Given the description of an element on the screen output the (x, y) to click on. 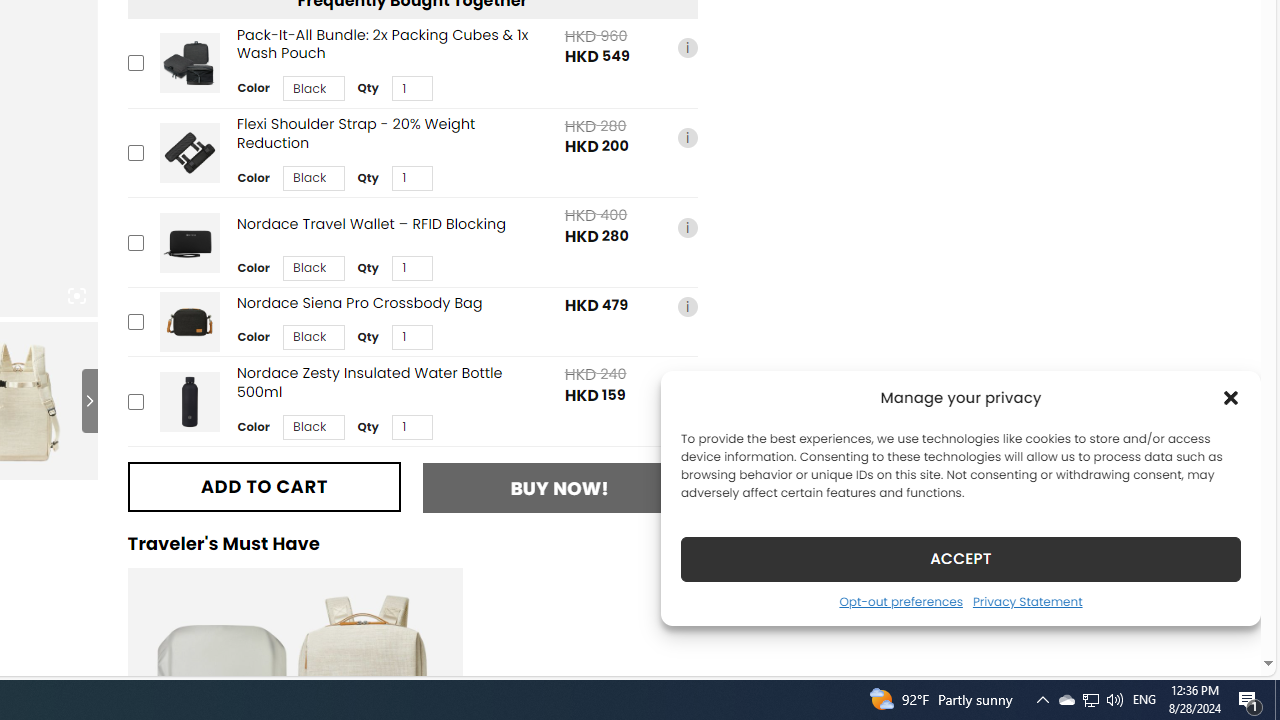
Class: upsell-v2-product-upsell-variable-product-qty-select (411, 426)
Opt-out preferences (900, 601)
Add this product to cart (134, 401)
Class: cmplz-close (1231, 397)
Nordace Siena Pro Crossbody Bag (189, 322)
Pack-It-All Bundle: 2x Packing Cubes & 1x Wash Pouch (189, 63)
ACCEPT (960, 558)
i (687, 385)
ADD TO CART (263, 485)
Class: iconic-woothumbs-fullscreen (75, 296)
Nordace Zesty Insulated Water Bottle 500ml (189, 401)
Privacy Statement (1026, 601)
Flexi Shoulder Strap - 20% Weight Reduction (189, 151)
